Given the description of an element on the screen output the (x, y) to click on. 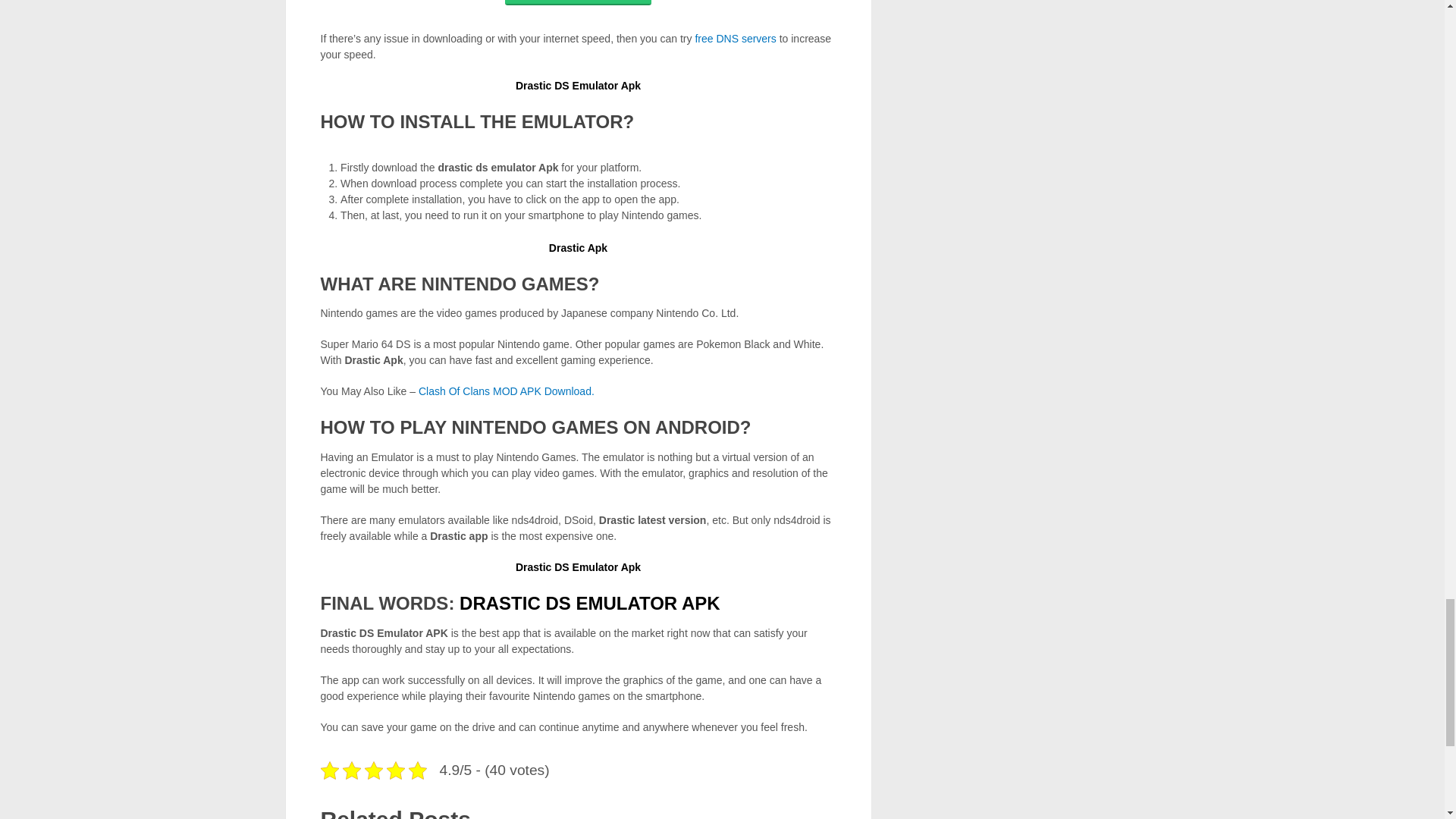
Drastic DS Emulator Apk (577, 85)
Drastic DS Emulator Apk (577, 567)
free DNS servers (735, 38)
Clash Of Clans MOD APK Download. (506, 390)
Drastic Apk (577, 247)
Download from Playstore (577, 2)
